Given the description of an element on the screen output the (x, y) to click on. 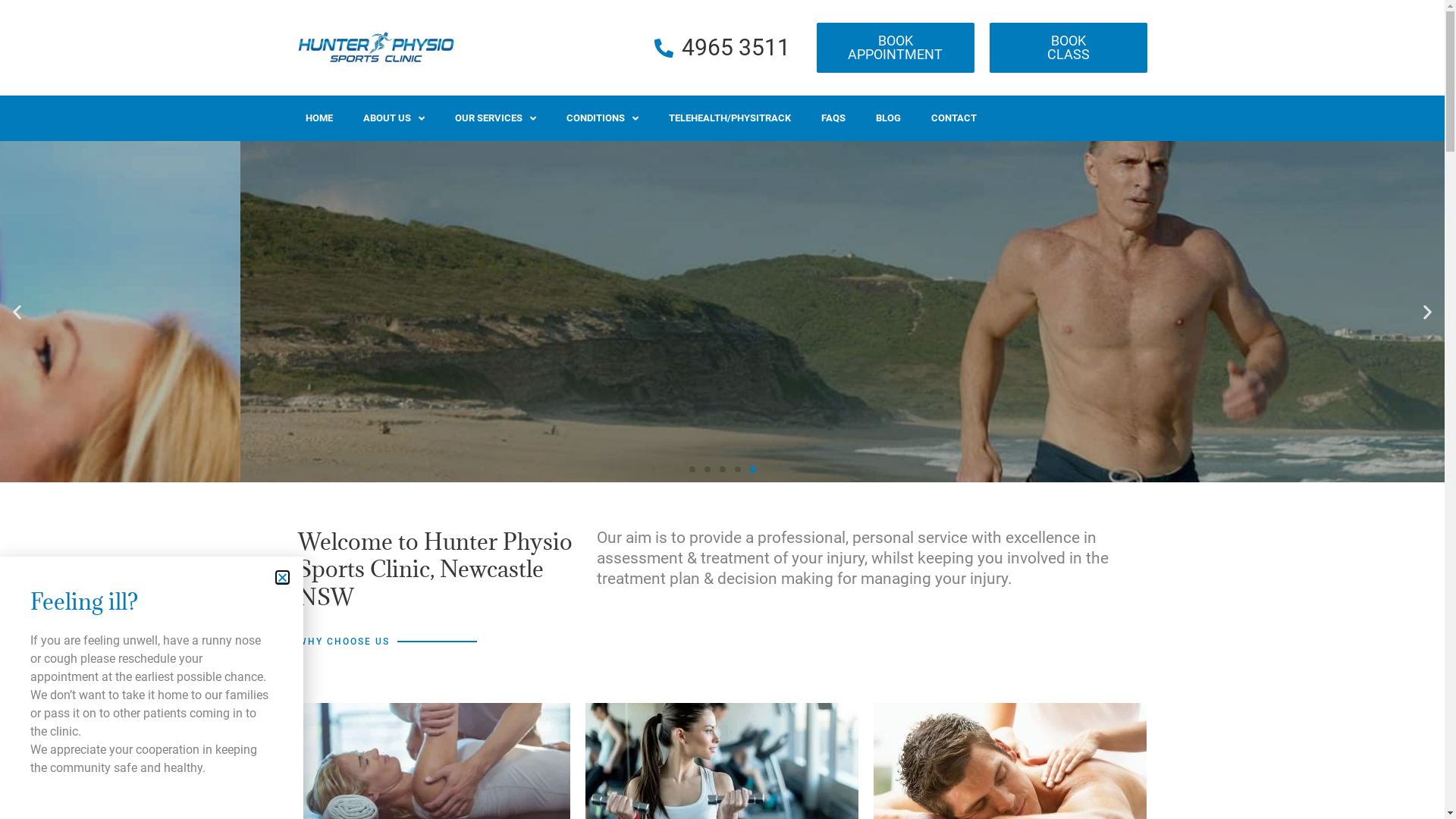
CONTACT Element type: text (953, 118)
CONDITIONS Element type: text (601, 118)
HOME Element type: text (318, 118)
BLOG Element type: text (887, 118)
BOOK
CLASS Element type: text (1067, 47)
ABOUT US Element type: text (393, 118)
BOOK APPOINTMENT Element type: text (894, 47)
OUR SERVICES Element type: text (495, 118)
FAQS Element type: text (832, 118)
LEARN MORE Element type: text (243, 394)
4965 3511 Element type: text (721, 47)
TELEHEALTH/PHYSITRACK Element type: text (729, 118)
